Given the description of an element on the screen output the (x, y) to click on. 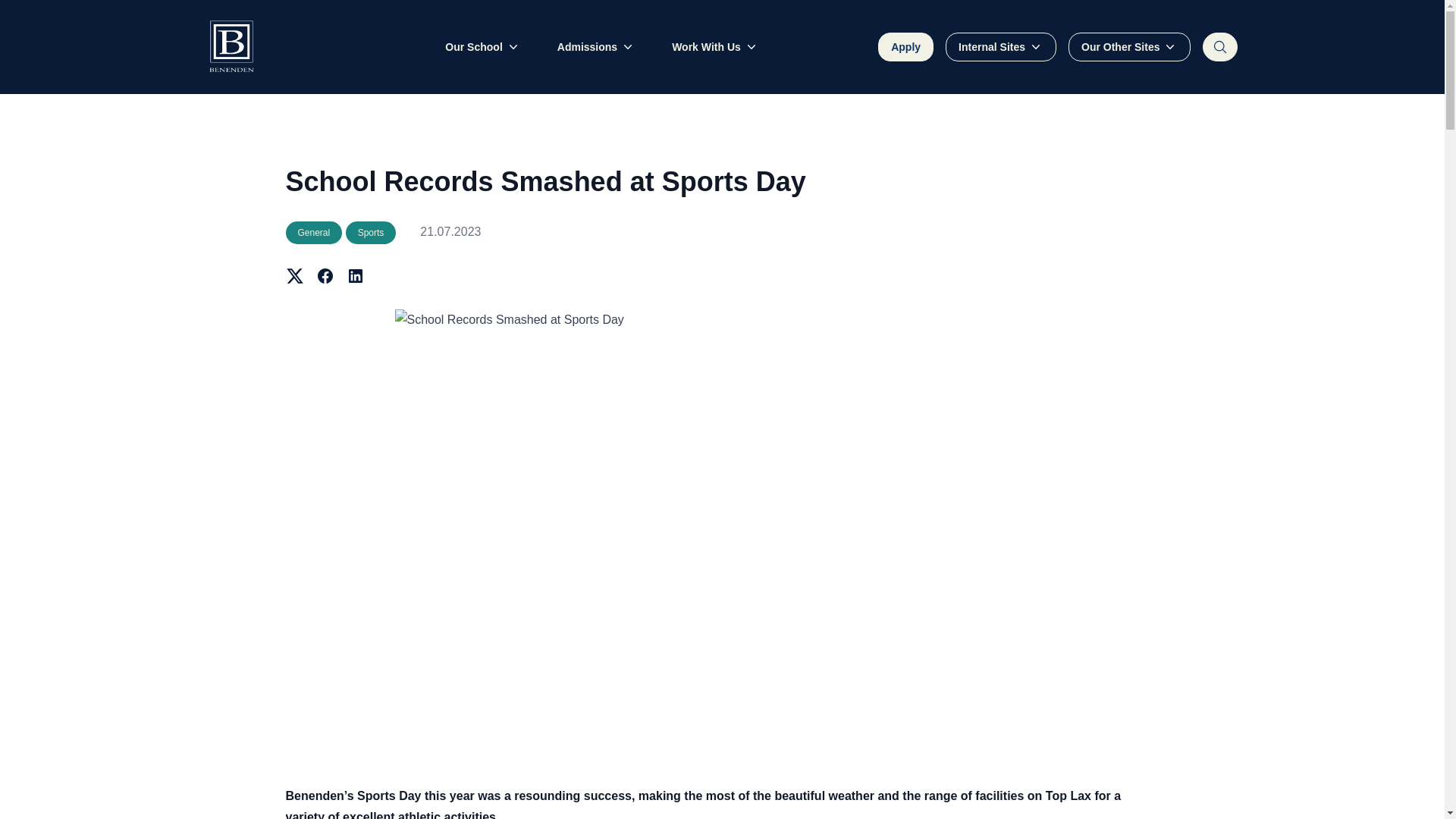
Work With Us (714, 46)
Our School (482, 46)
Apply (905, 46)
Admissions (595, 46)
Internal Sites (1000, 46)
